Given the description of an element on the screen output the (x, y) to click on. 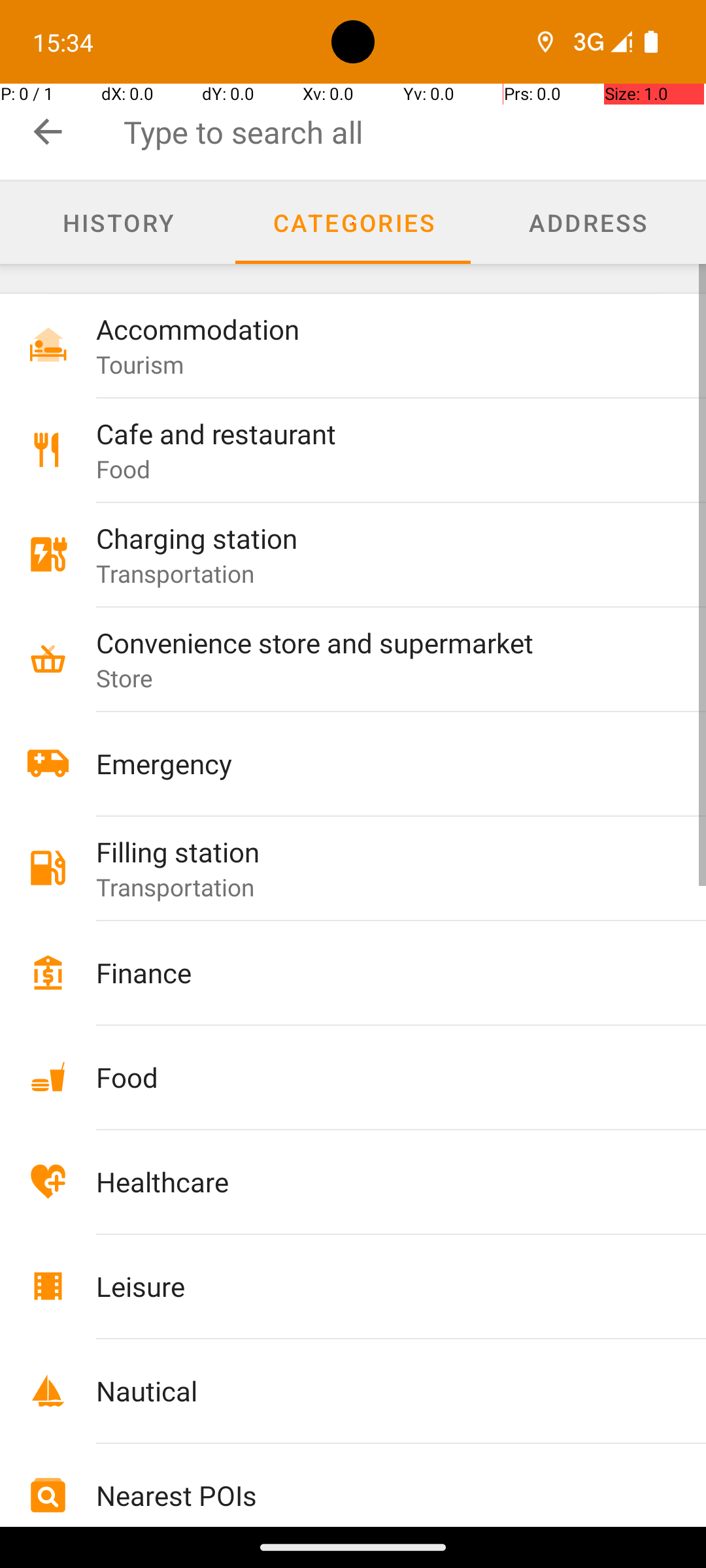
Type to search all Element type: android.widget.EditText (414, 131)
History Element type: android.widget.LinearLayout (117, 222)
Categories Element type: android.widget.LinearLayout (352, 222)
Address Element type: android.widget.LinearLayout (588, 222)
HISTORY Element type: android.widget.TextView (117, 222)
CATEGORIES Element type: android.widget.TextView (352, 222)
ADDRESS Element type: android.widget.TextView (587, 222)
Accommodation Element type: android.widget.TextView (373, 328)
Tourism Element type: android.widget.TextView (140, 363)
Cafe and restaurant Element type: android.widget.TextView (373, 433)
Charging station Element type: android.widget.TextView (373, 537)
Transportation Element type: android.widget.TextView (175, 572)
Convenience store and supermarket Element type: android.widget.TextView (373, 642)
Store Element type: android.widget.TextView (124, 677)
Emergency Element type: android.widget.TextView (373, 763)
Filling station Element type: android.widget.TextView (373, 851)
Healthcare Element type: android.widget.TextView (373, 1181)
Leisure Element type: android.widget.TextView (373, 1285)
Nautical Element type: android.widget.TextView (373, 1390)
Nearest POIs Element type: android.widget.TextView (373, 1494)
